Given the description of an element on the screen output the (x, y) to click on. 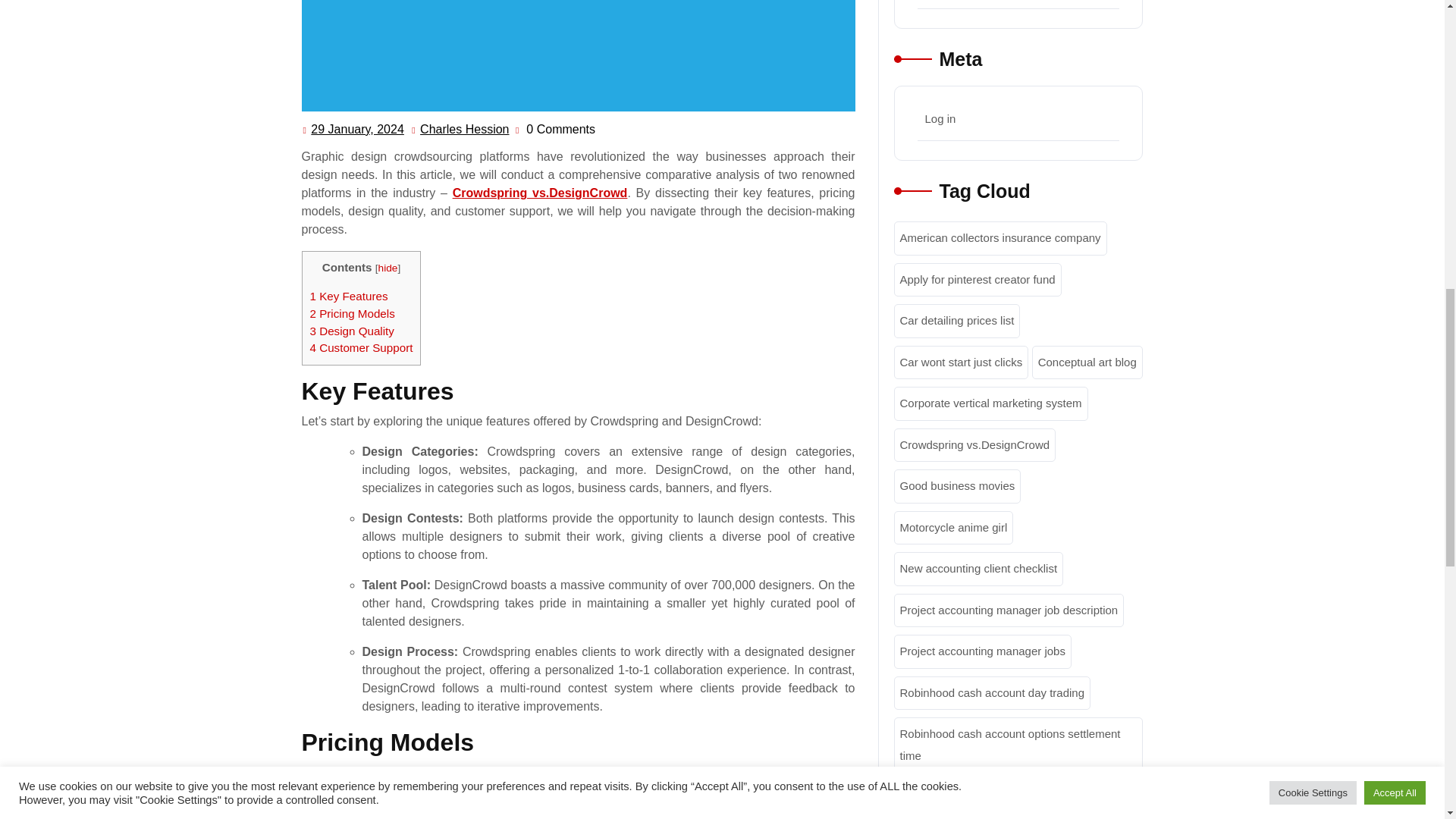
Corporate vertical marketing system (356, 129)
Project accounting manager job description (990, 403)
Conceptual art blog (1008, 609)
American collectors insurance company (1087, 362)
1 Key Features (999, 238)
3 Design Quality (347, 295)
2 Pricing Models (350, 330)
Car wont start just clicks (351, 313)
Crowdspring vs.DesignCrowd (960, 362)
Motorcycle anime girl (539, 192)
hide (953, 528)
Apply for pinterest creator fund (387, 267)
New accounting client checklist (977, 279)
